Given the description of an element on the screen output the (x, y) to click on. 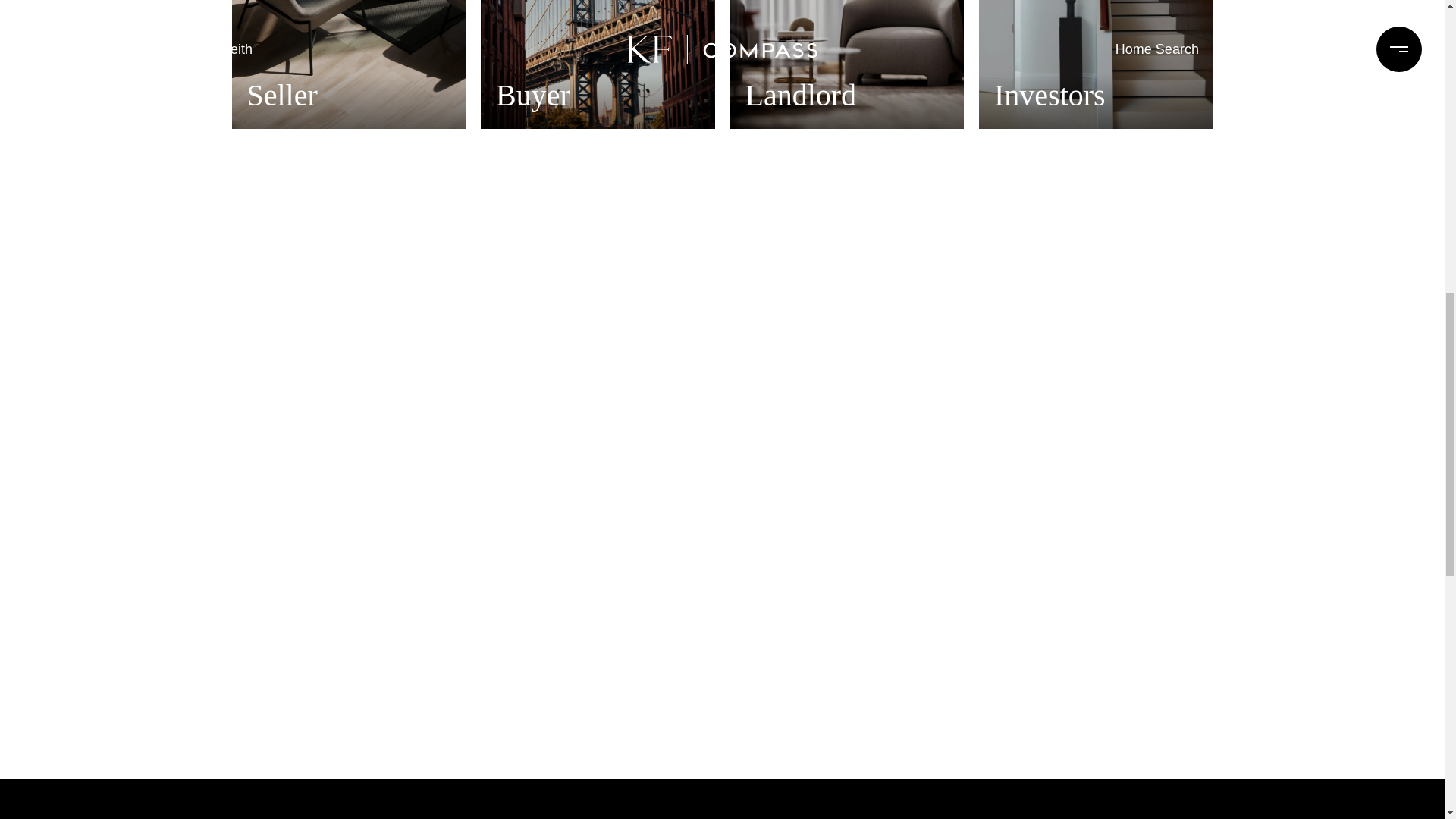
Seller (348, 64)
Landlord (846, 64)
Buyer (597, 64)
